Given the description of an element on the screen output the (x, y) to click on. 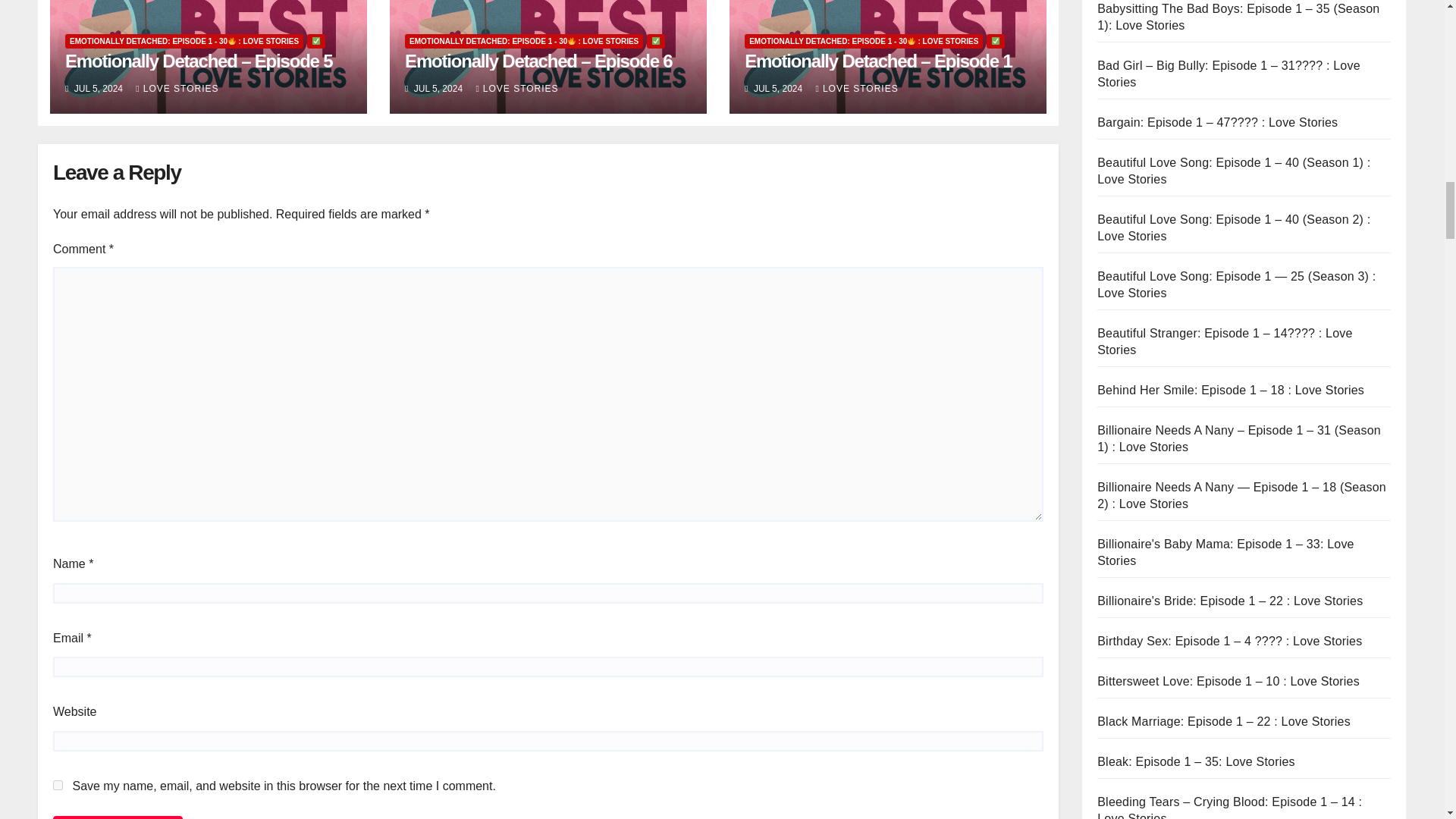
LOVE STORIES (176, 88)
Post Comment (117, 817)
EMOTIONALLY DETACHED: EPISODE 1 - 30 : LOVE STORIES (523, 41)
EMOTIONALLY DETACHED: EPISODE 1 - 30 : LOVE STORIES (183, 41)
yes (57, 785)
